Given the description of an element on the screen output the (x, y) to click on. 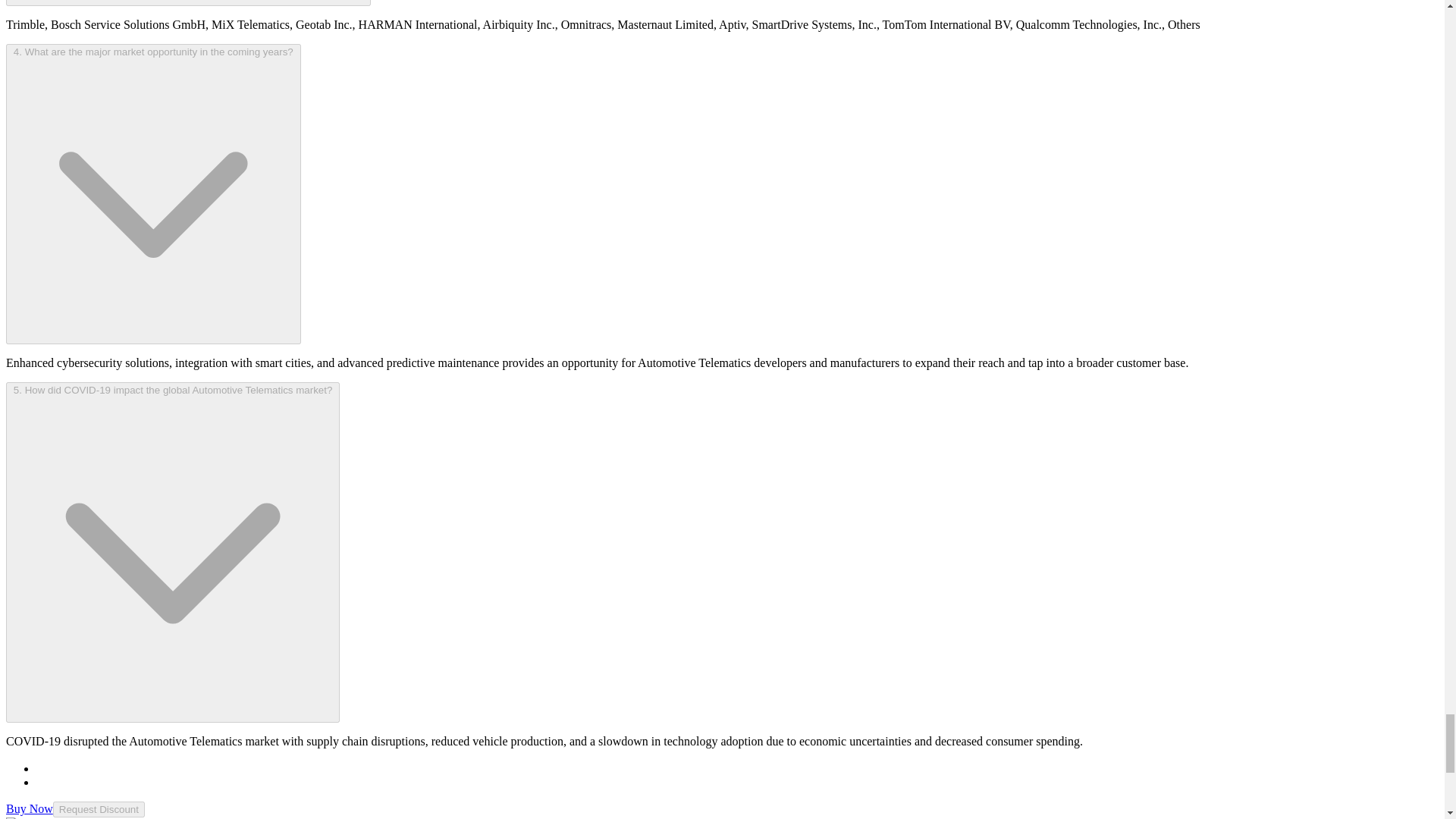
Buy Now (28, 808)
Request Discount (98, 809)
